Given the description of an element on the screen output the (x, y) to click on. 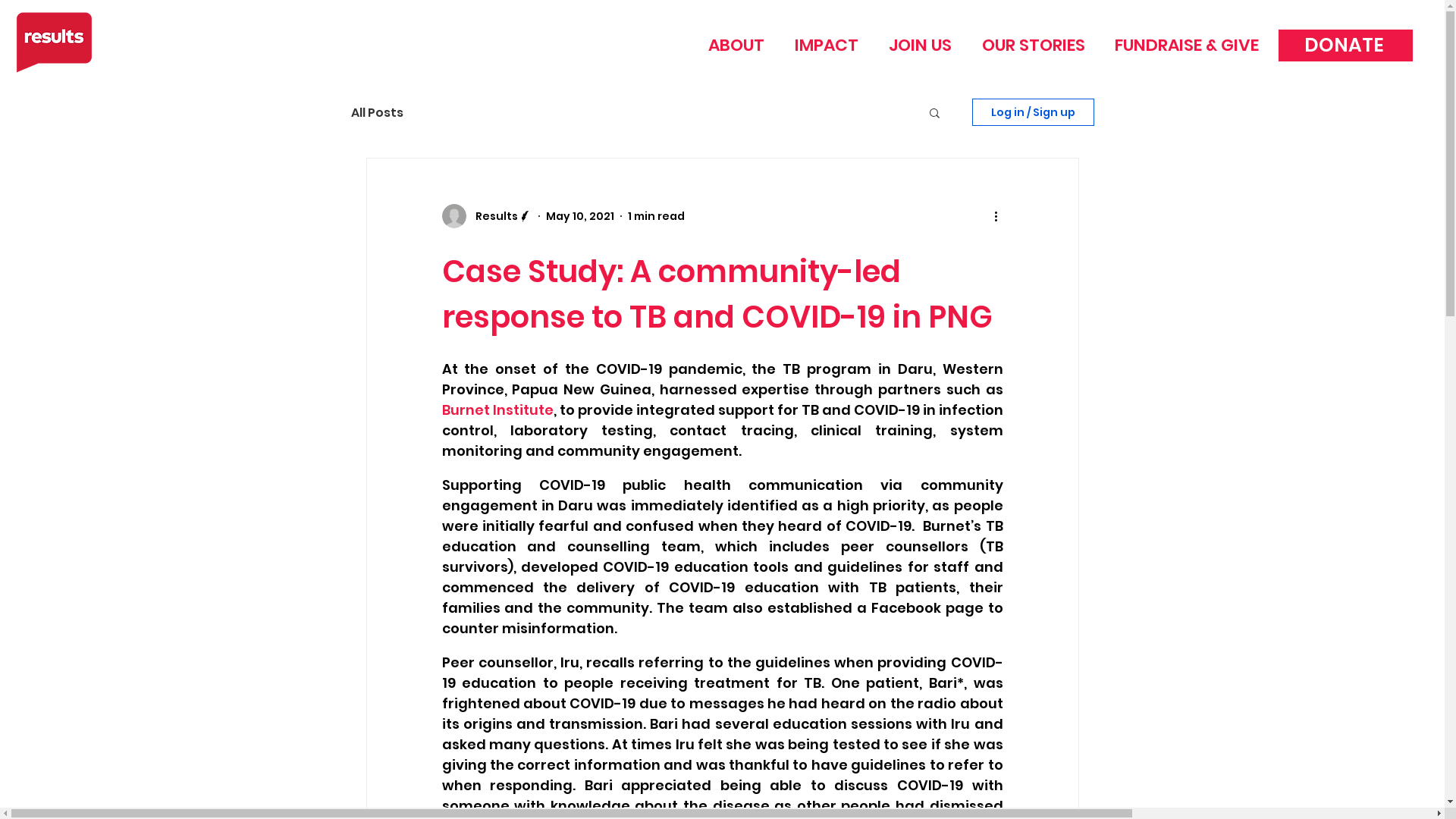
Burnet Institute Element type: text (496, 409)
OUR STORIES Element type: text (1032, 45)
FUNDRAISE & GIVE Element type: text (1186, 45)
All Posts Element type: text (376, 112)
DONATE Element type: text (1345, 45)
Log in / Sign up Element type: text (1033, 111)
